Given the description of an element on the screen output the (x, y) to click on. 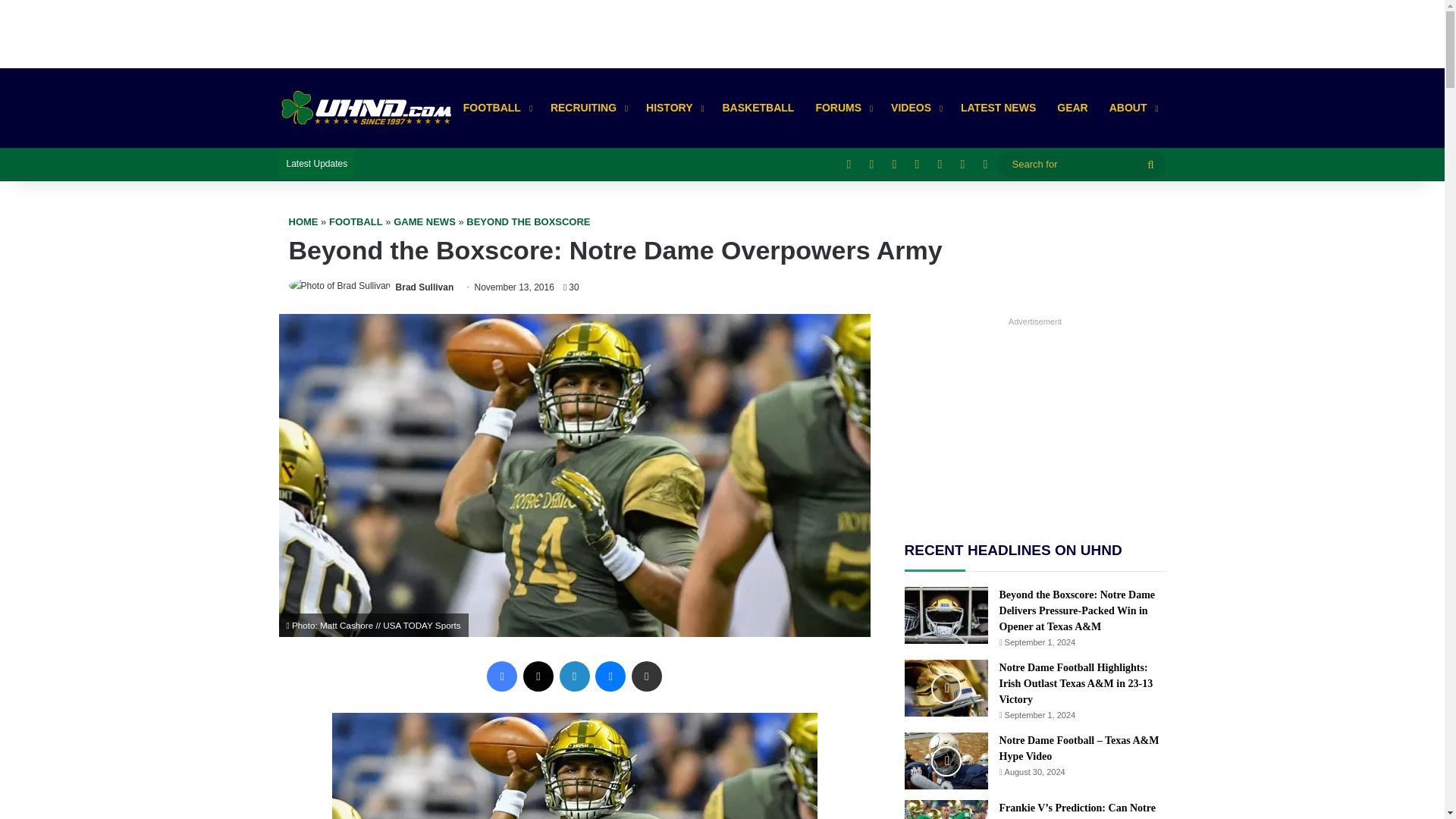
FOOTBALL (496, 107)
Messenger (610, 675)
Beyond the Boxscore: Notre Dame Overpowers Army 2 (573, 765)
LinkedIn (574, 675)
RECRUITING (587, 107)
FORUMS (842, 107)
Search for (1080, 163)
Facebook (501, 675)
HISTORY (672, 107)
